Given the description of an element on the screen output the (x, y) to click on. 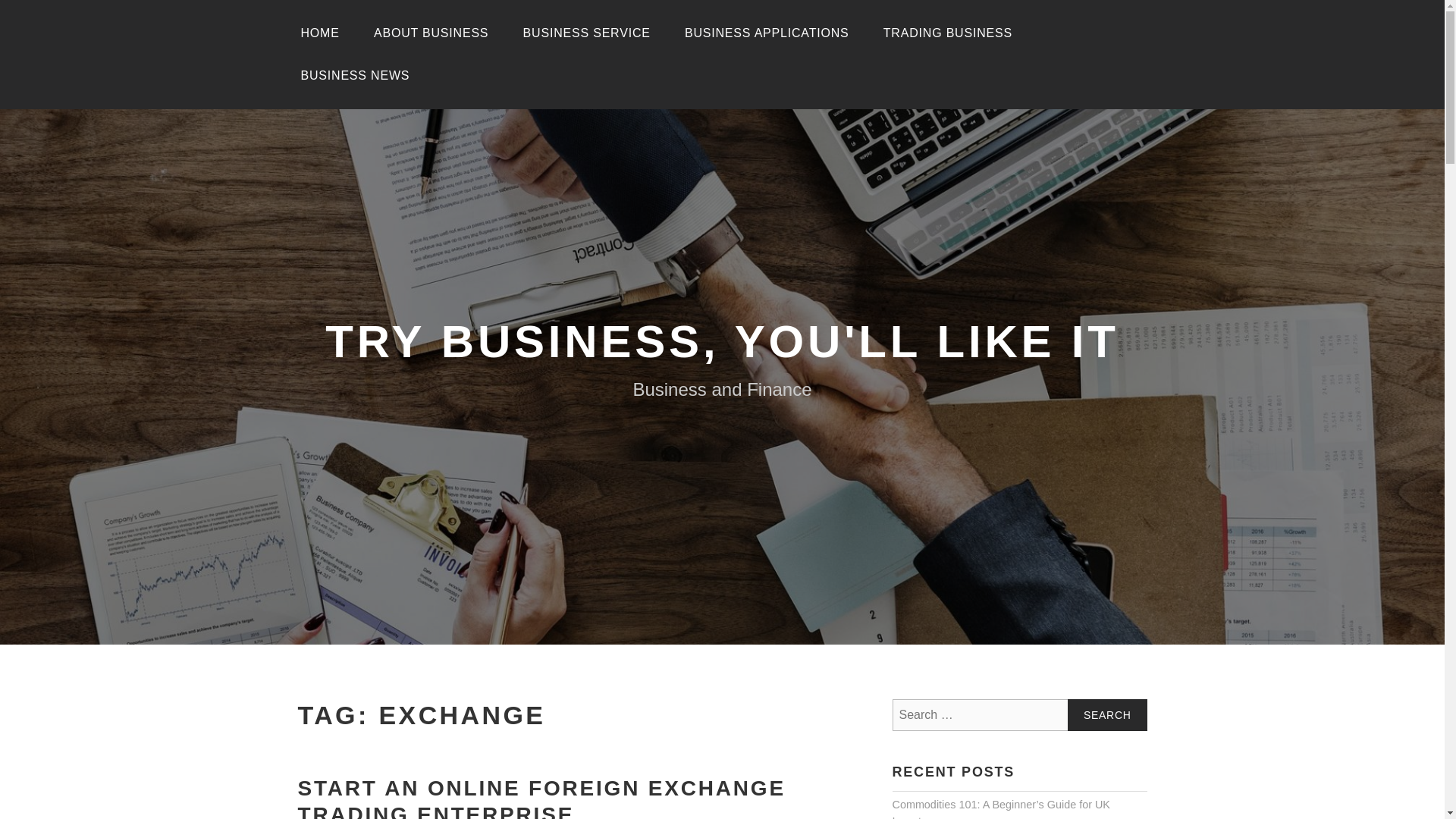
ABOUT BUSINESS (430, 33)
HOME (319, 33)
TRY BUSINESS, YOU'LL LIKE IT (721, 341)
TRADING BUSINESS (947, 33)
START AN ONLINE FOREIGN EXCHANGE TRADING ENTERPRISE (540, 797)
BUSINESS NEWS (355, 75)
BUSINESS SERVICE (586, 33)
BUSINESS APPLICATIONS (766, 33)
Search (1107, 715)
